Given the description of an element on the screen output the (x, y) to click on. 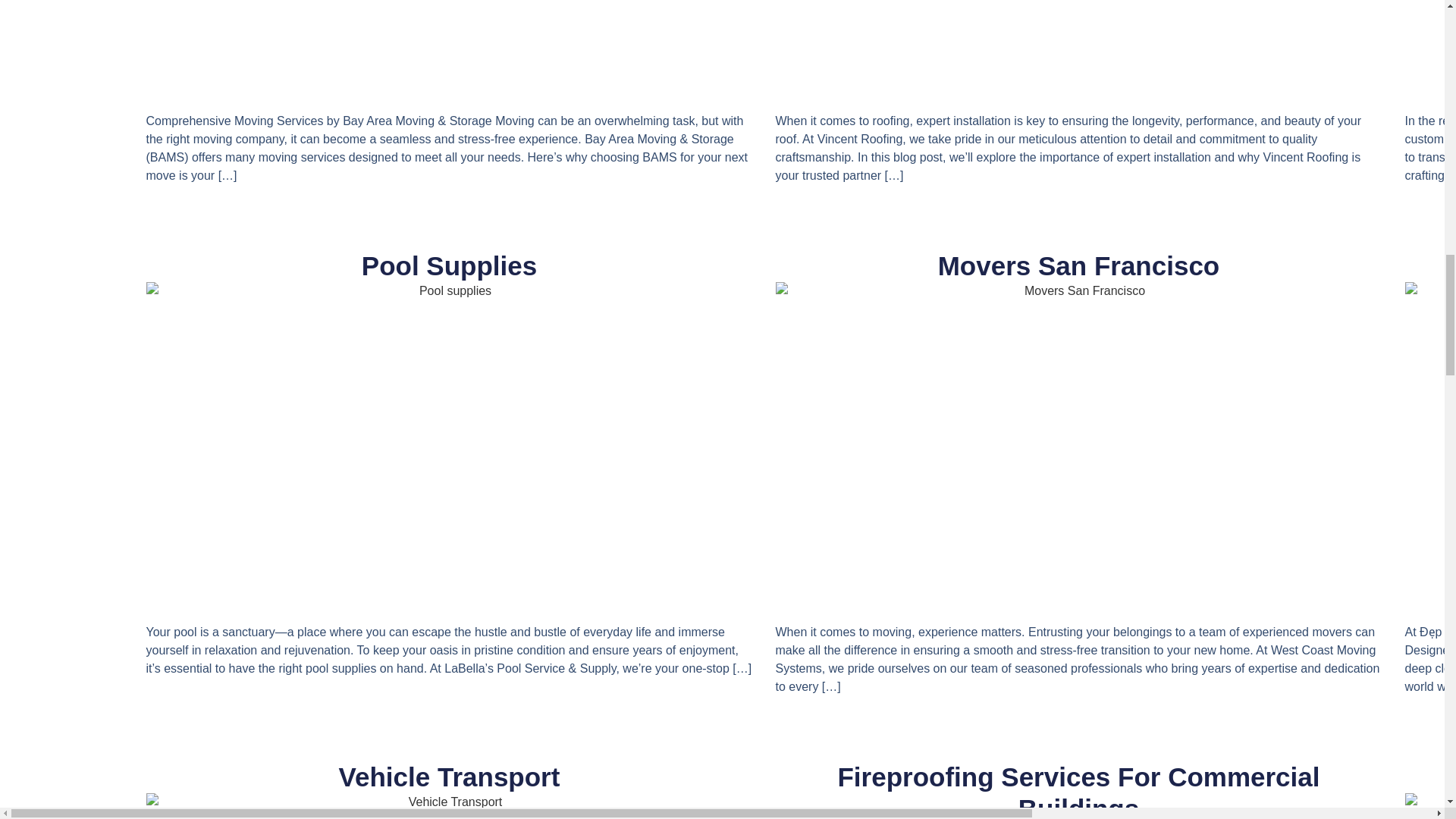
Movers San Francisco (1078, 265)
Fireproofing Services For Commercial Buildings (1078, 790)
Vehicle Transport (449, 776)
Pool Supplies (449, 265)
